Given the description of an element on the screen output the (x, y) to click on. 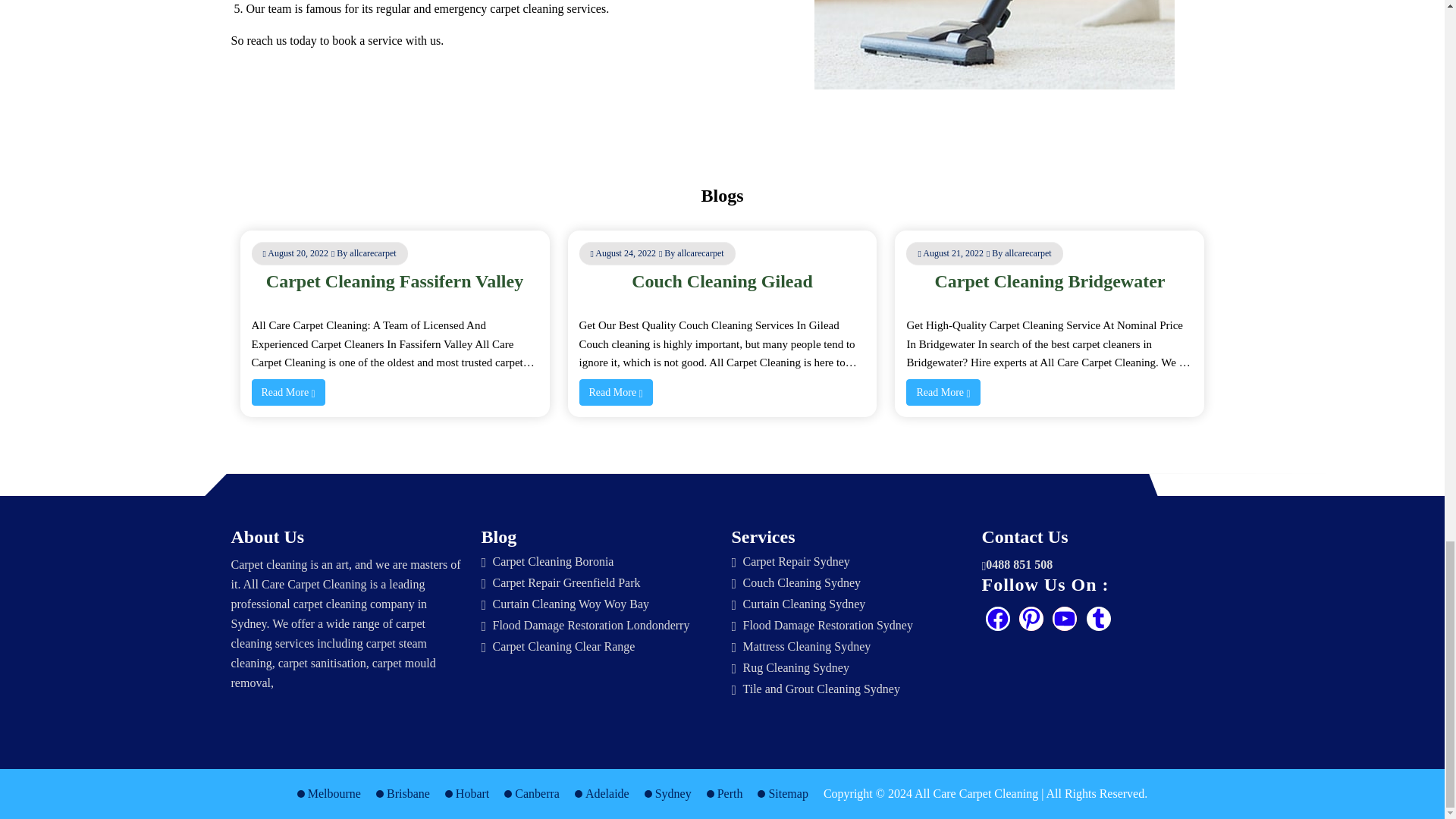
Couch Cleaning Gilead (721, 281)
Carpet Cleaning Bridgewater (1049, 281)
Carpet Cleaning Fassifern Valley (394, 281)
